Given the description of an element on the screen output the (x, y) to click on. 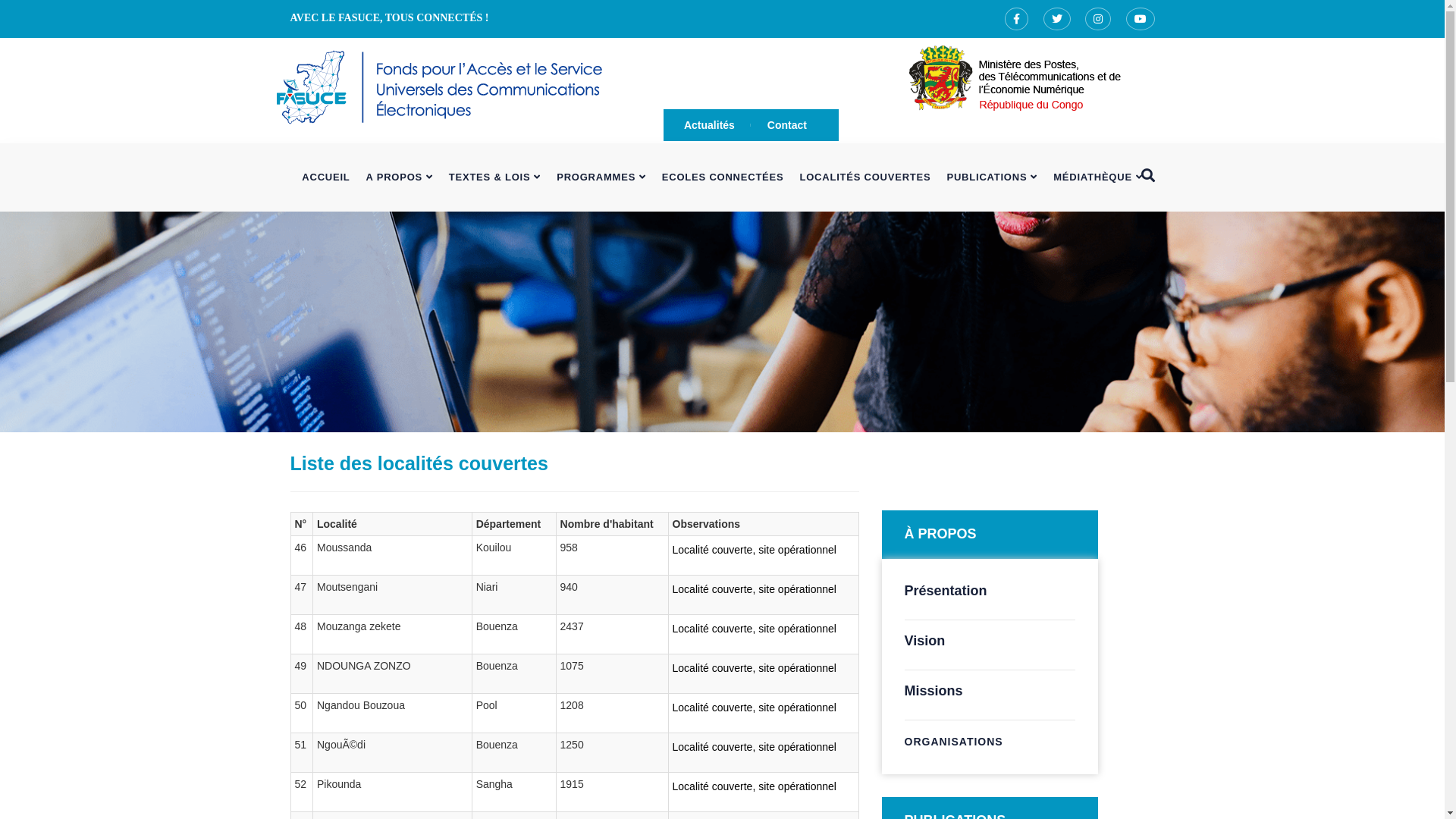
ACCUEIL Element type: text (325, 177)
PUBLICATIONS Element type: text (991, 177)
Contact Element type: text (786, 124)
PROGRAMMES Element type: text (601, 177)
A PROPOS Element type: text (398, 177)
ORGANISATIONS Element type: text (952, 741)
TEXTES & LOIS Element type: text (494, 177)
Missions Element type: text (932, 690)
Vision Element type: text (923, 640)
